Given the description of an element on the screen output the (x, y) to click on. 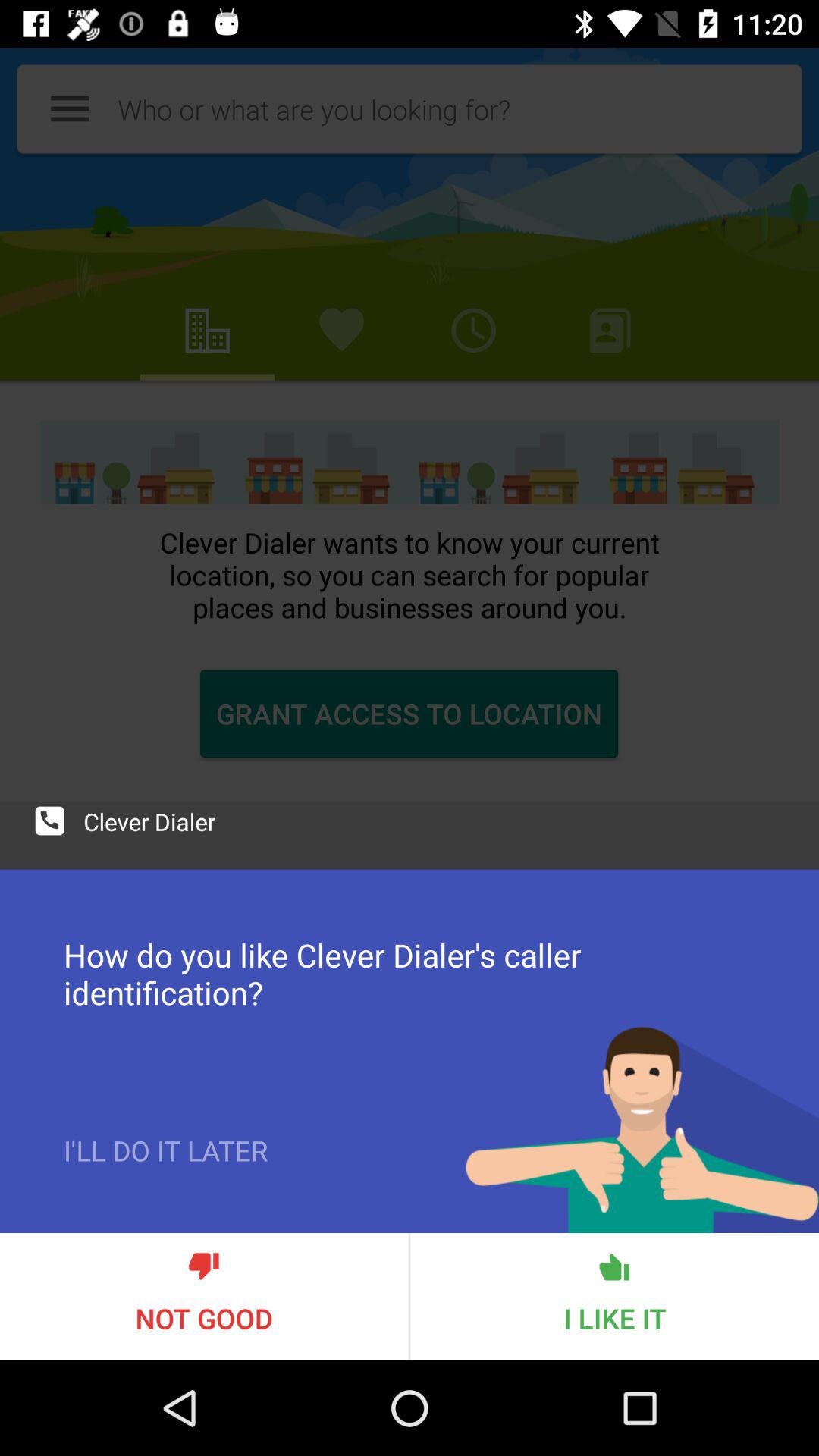
scroll to not good (204, 1296)
